Given the description of an element on the screen output the (x, y) to click on. 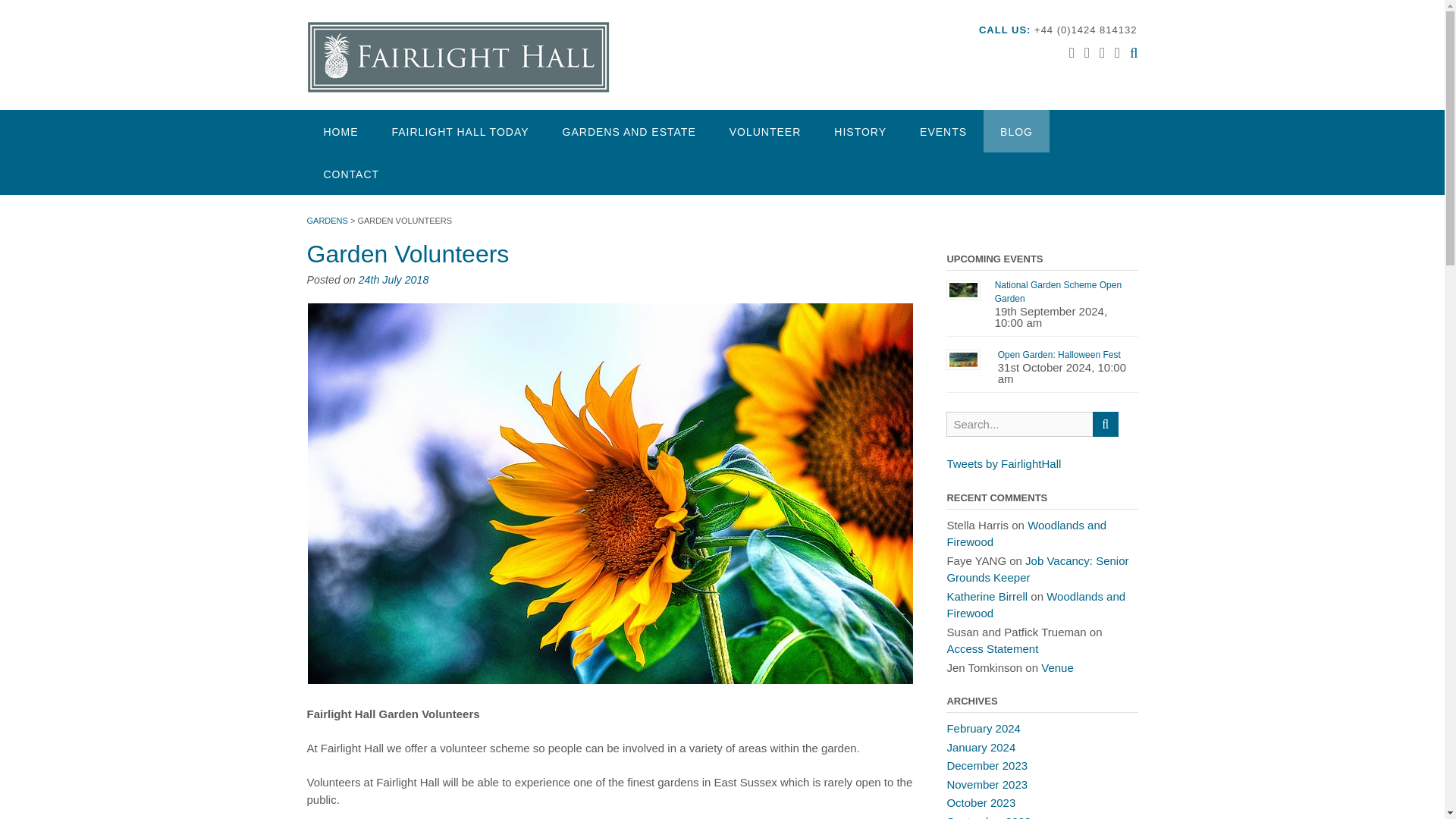
CONTACT (350, 173)
GARDENS AND ESTATE (629, 130)
Eventbrite link to Open Garden: Halloween Fest (1059, 354)
Venue (1057, 667)
Eventbrite link to National Garden Scheme Open Garden (1057, 291)
VOLUNTEER (765, 130)
Katherine Birrell (986, 595)
National Garden Scheme Open Garden (1057, 291)
Woodlands and Firewood (1035, 604)
HISTORY (859, 130)
